Given the description of an element on the screen output the (x, y) to click on. 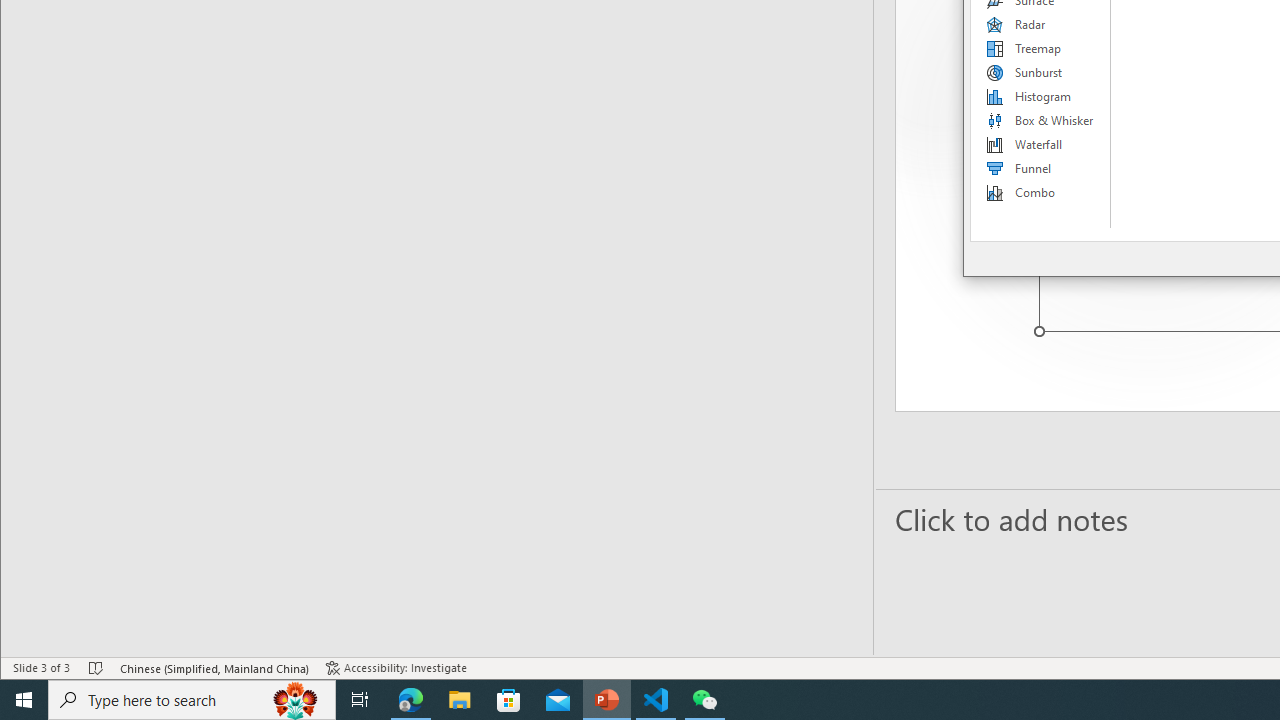
WeChat - 1 running window (704, 699)
Treemap (1041, 48)
Histogram (1041, 96)
Radar (1041, 24)
